Given the description of an element on the screen output the (x, y) to click on. 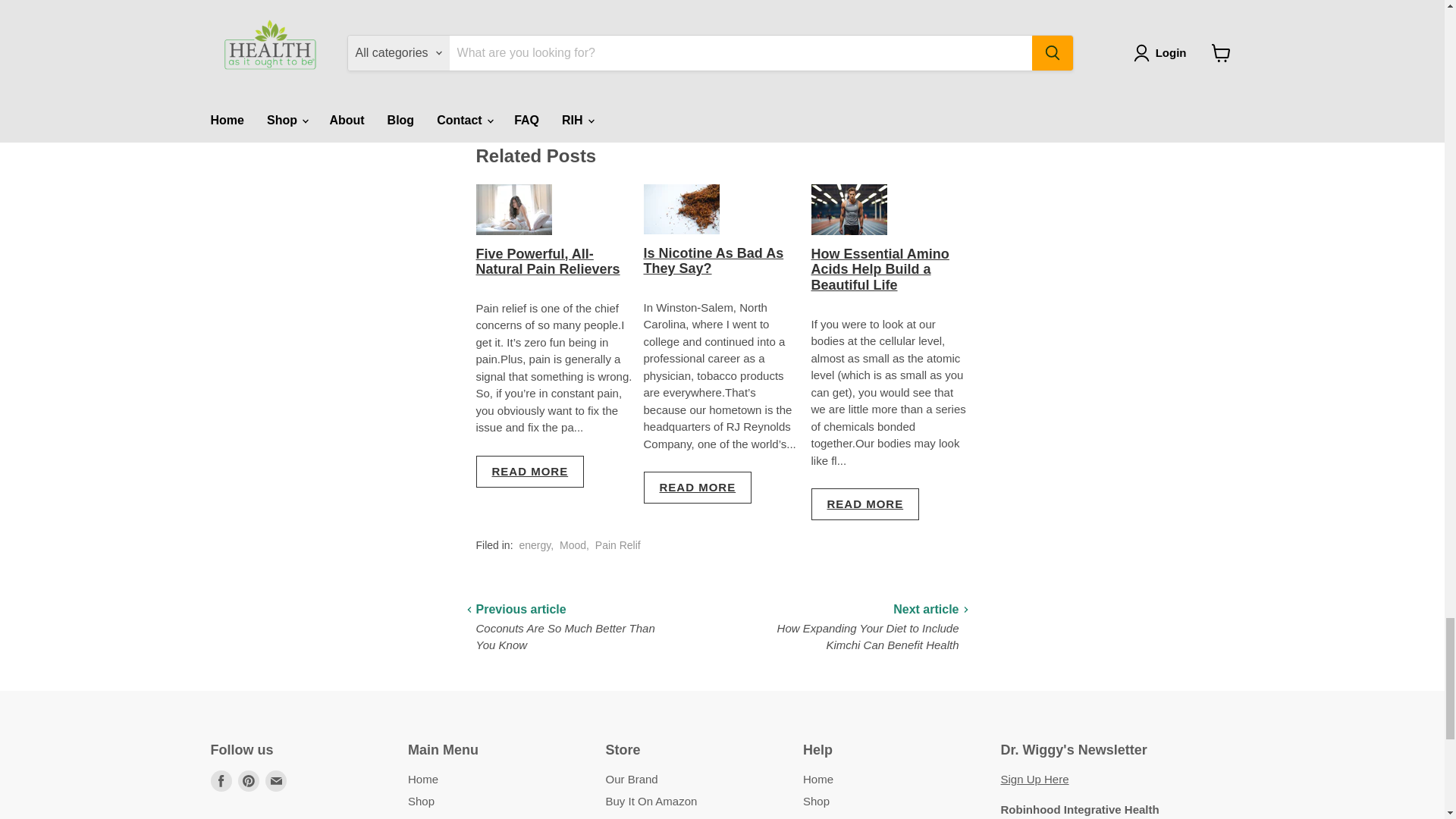
Pinterest (248, 780)
Show articles tagged energy (534, 544)
Show articles tagged Mood (572, 544)
Show articles tagged Pain Relif (617, 544)
Email (275, 780)
Facebook (221, 780)
